Given the description of an element on the screen output the (x, y) to click on. 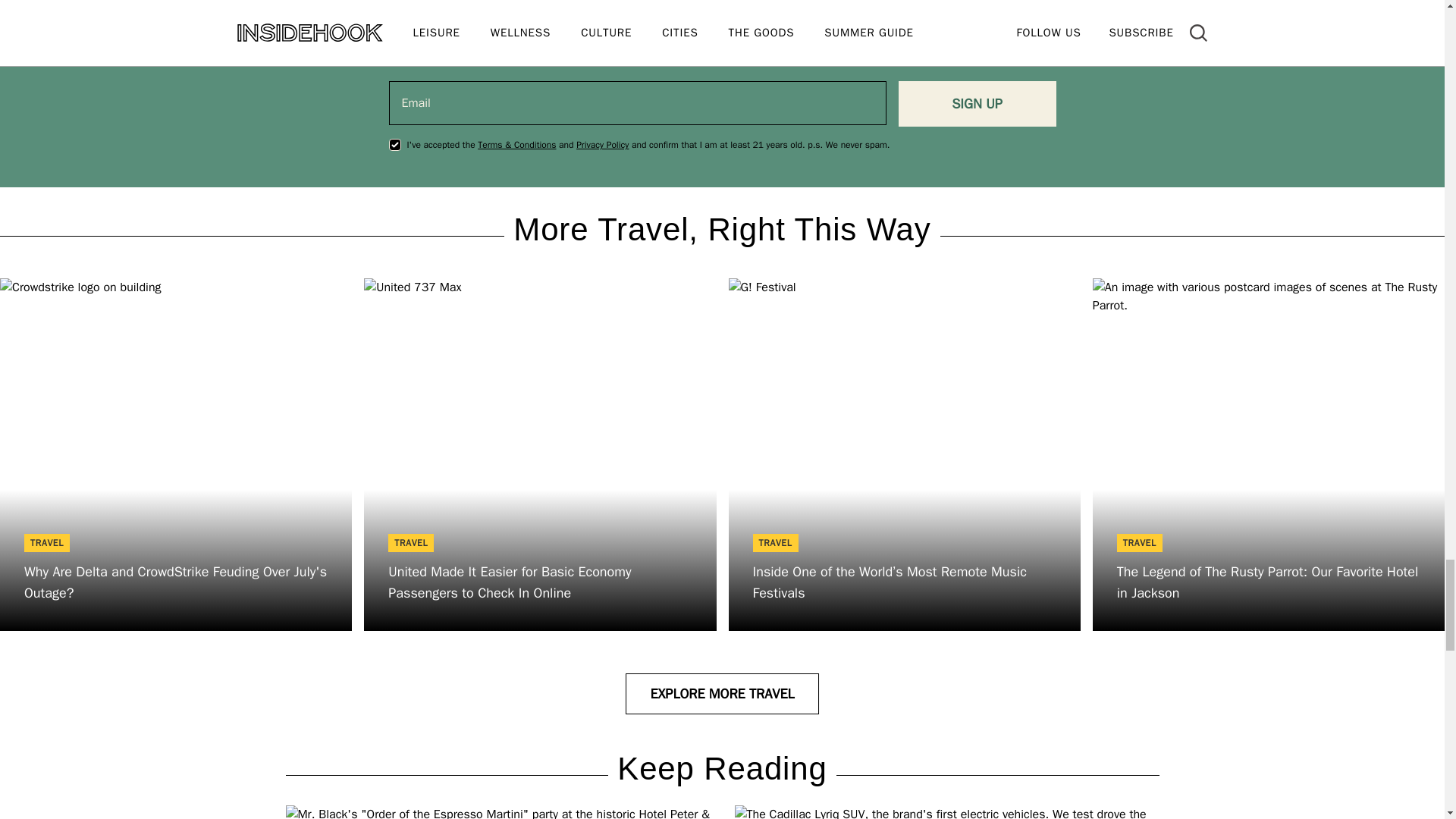
on (394, 144)
